Given the description of an element on the screen output the (x, y) to click on. 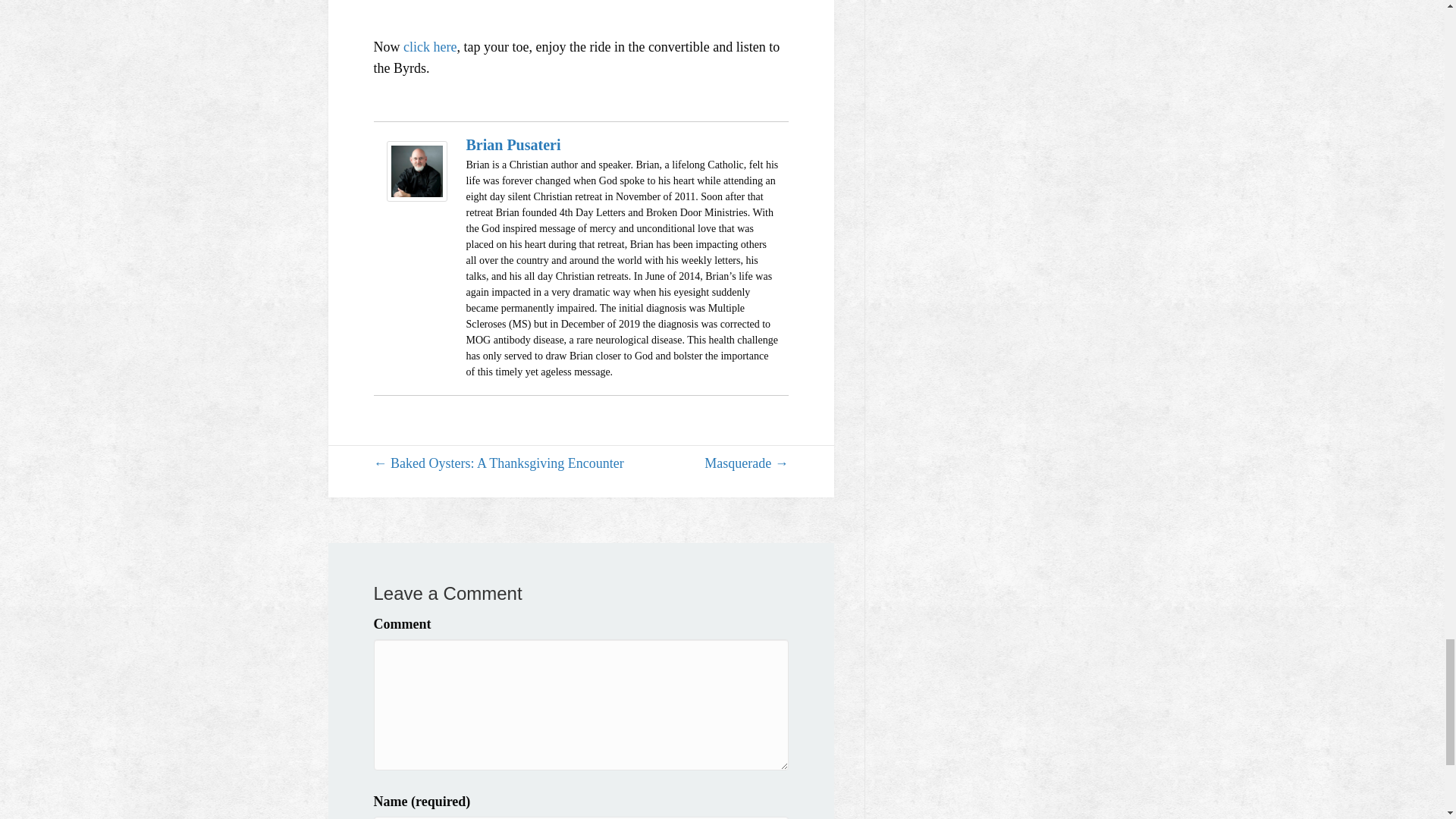
click here (430, 46)
Brian Pusateri (415, 170)
Brian Pusateri (512, 144)
